Given the description of an element on the screen output the (x, y) to click on. 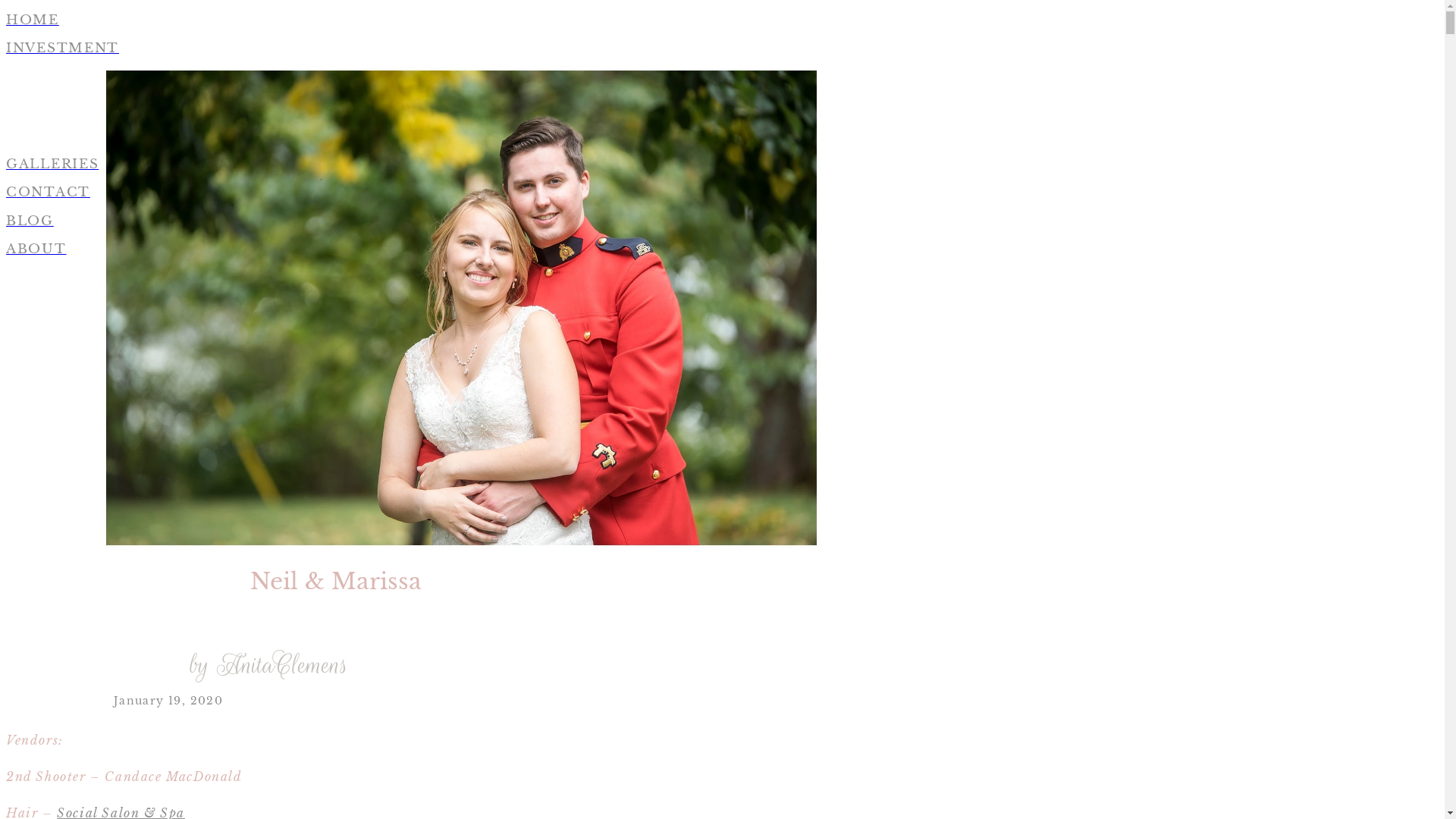
HOME Element type: text (461, 20)
ABOUT Element type: text (461, 249)
GALLERIES Element type: text (461, 164)
INVESTMENT Element type: text (461, 48)
BLOG Element type: text (461, 221)
CONTACT Element type: text (461, 192)
Anita ClemensPhotography Element type: text (461, 302)
